Given the description of an element on the screen output the (x, y) to click on. 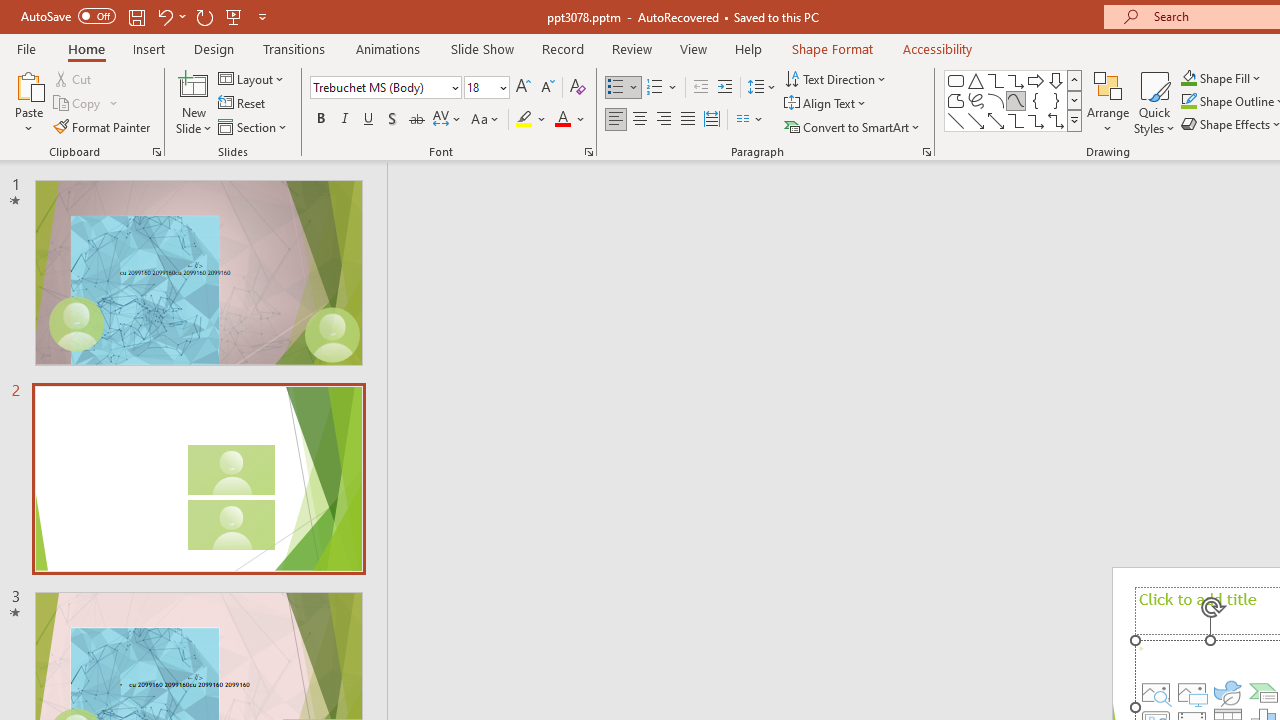
Line Arrow: Double (995, 120)
